Given the description of an element on the screen output the (x, y) to click on. 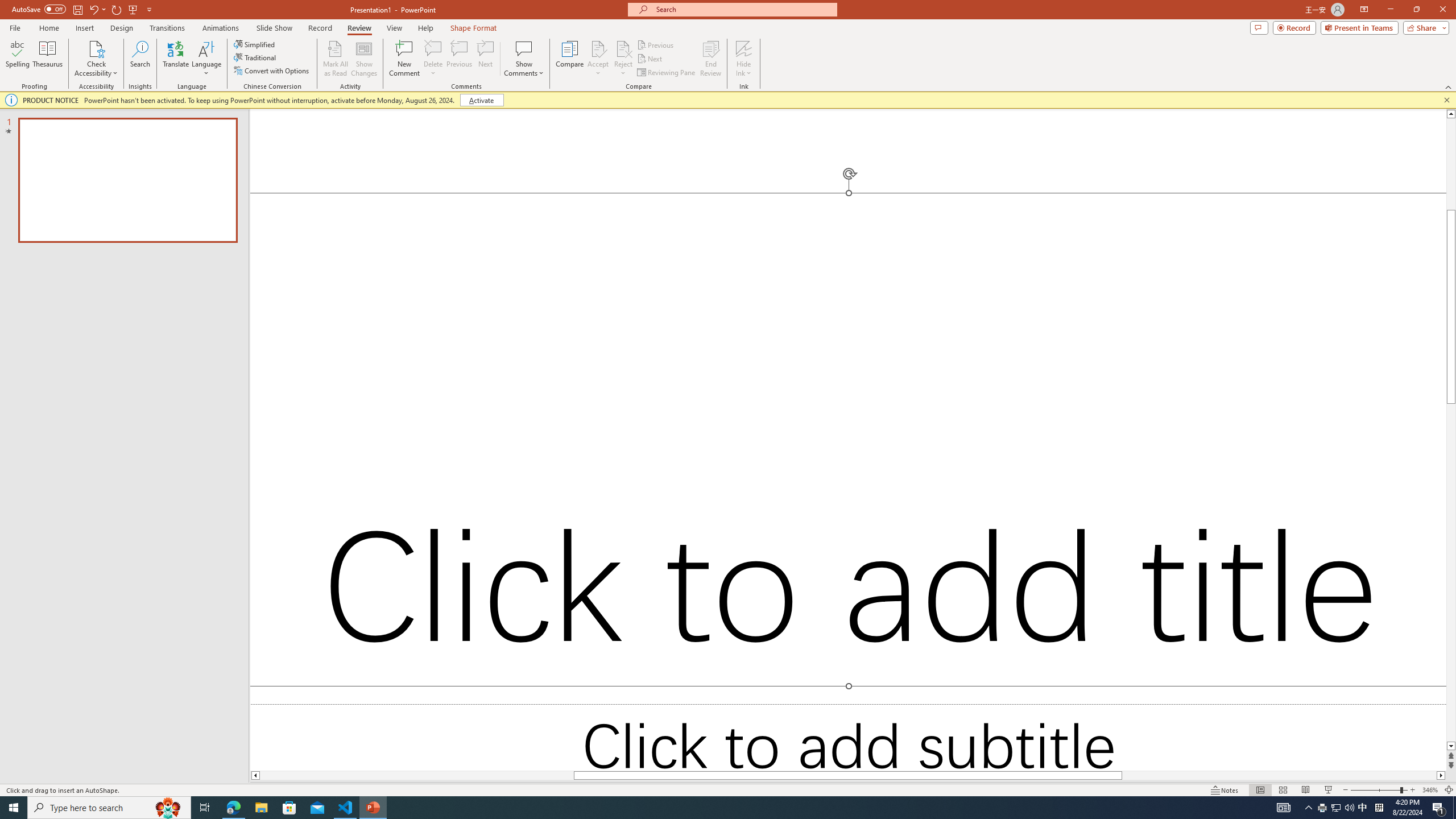
Compare (569, 58)
New Comment (403, 58)
Translate (175, 58)
